Given the description of an element on the screen output the (x, y) to click on. 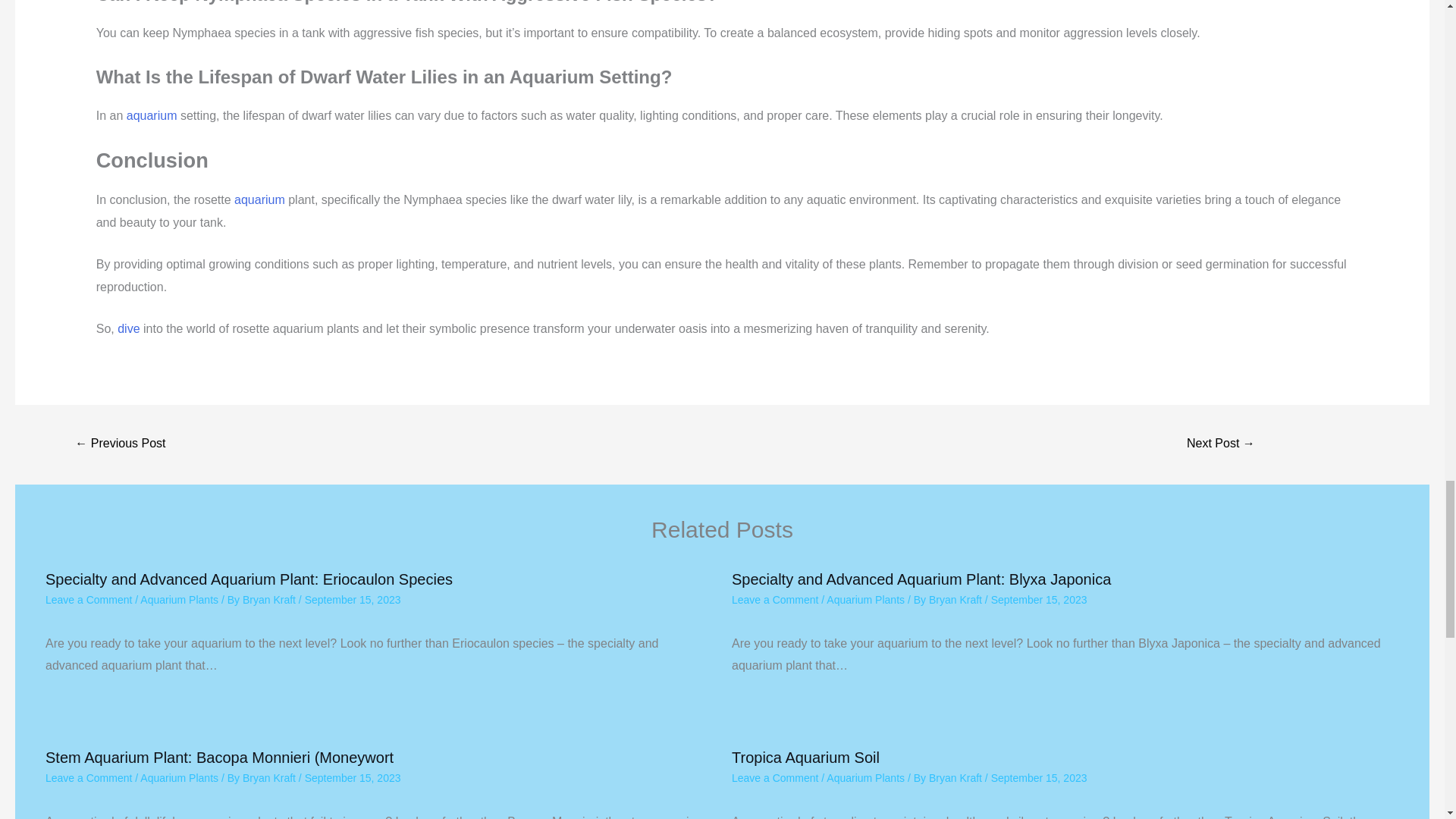
aquarium (259, 199)
dive (128, 328)
aquarium (151, 115)
